Given the description of an element on the screen output the (x, y) to click on. 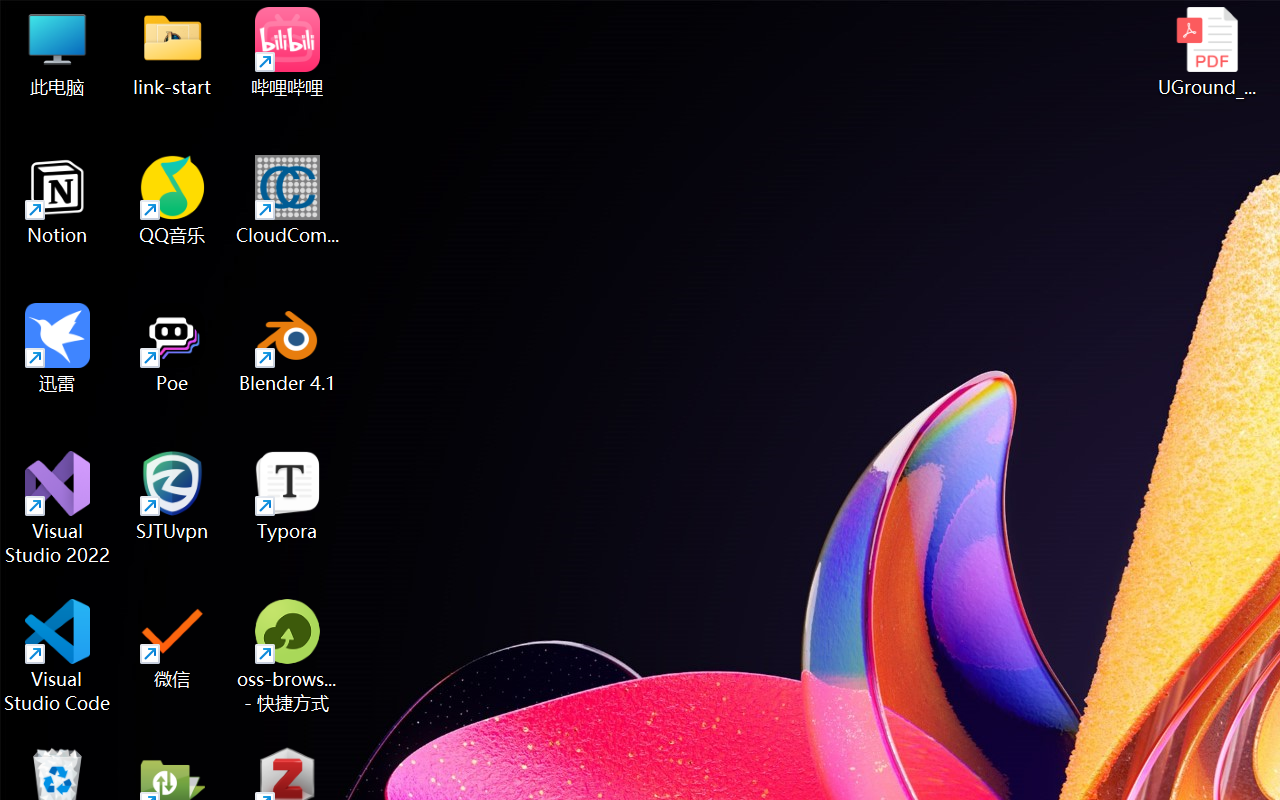
CloudCompare (287, 200)
Visual Studio 2022 (57, 508)
Blender 4.1 (287, 348)
Typora (287, 496)
UGround_paper.pdf (1206, 52)
SJTUvpn (172, 496)
Visual Studio Code (57, 656)
